Given the description of an element on the screen output the (x, y) to click on. 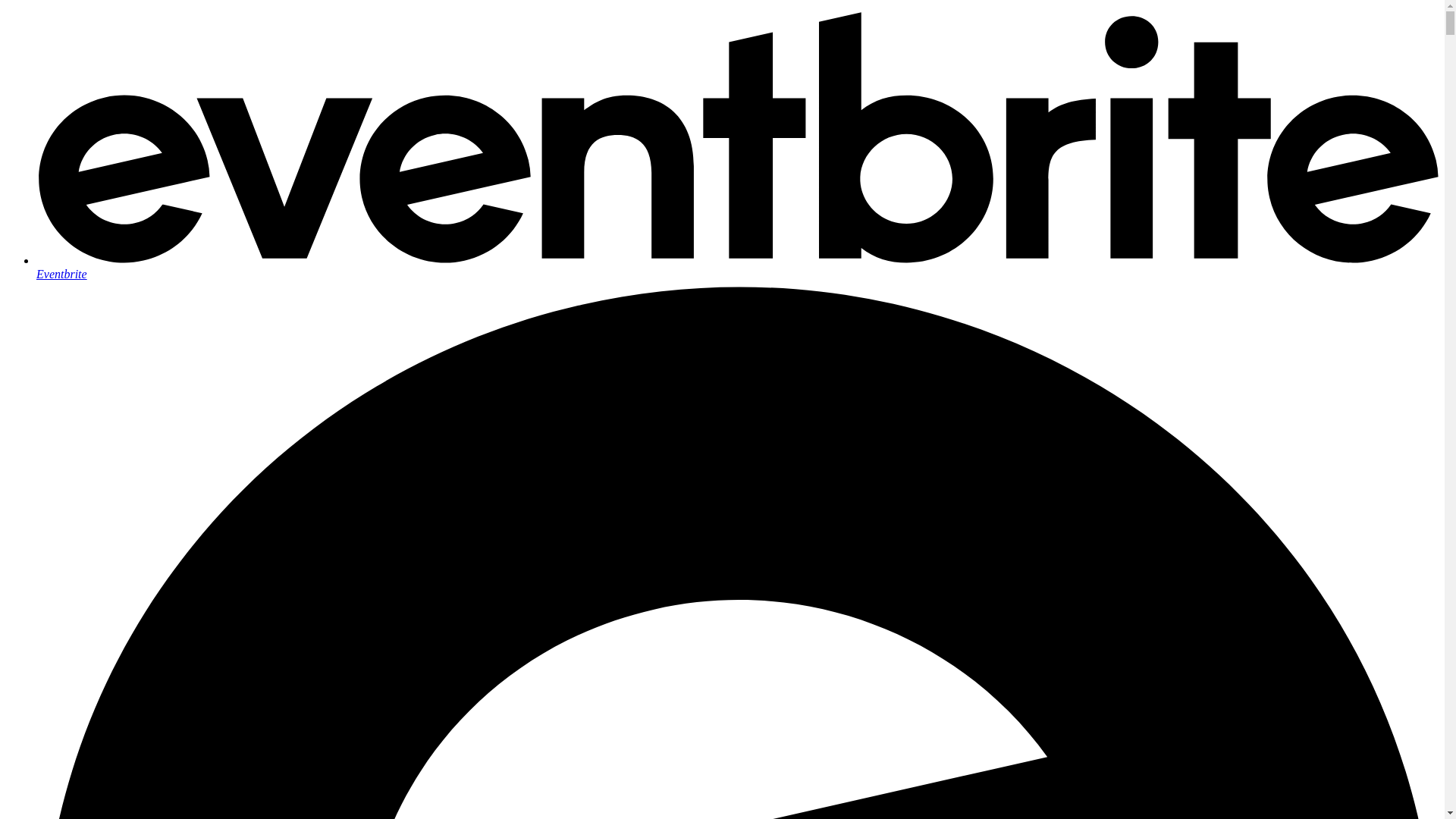
Eventbrite Element type: text (737, 267)
